Given the description of an element on the screen output the (x, y) to click on. 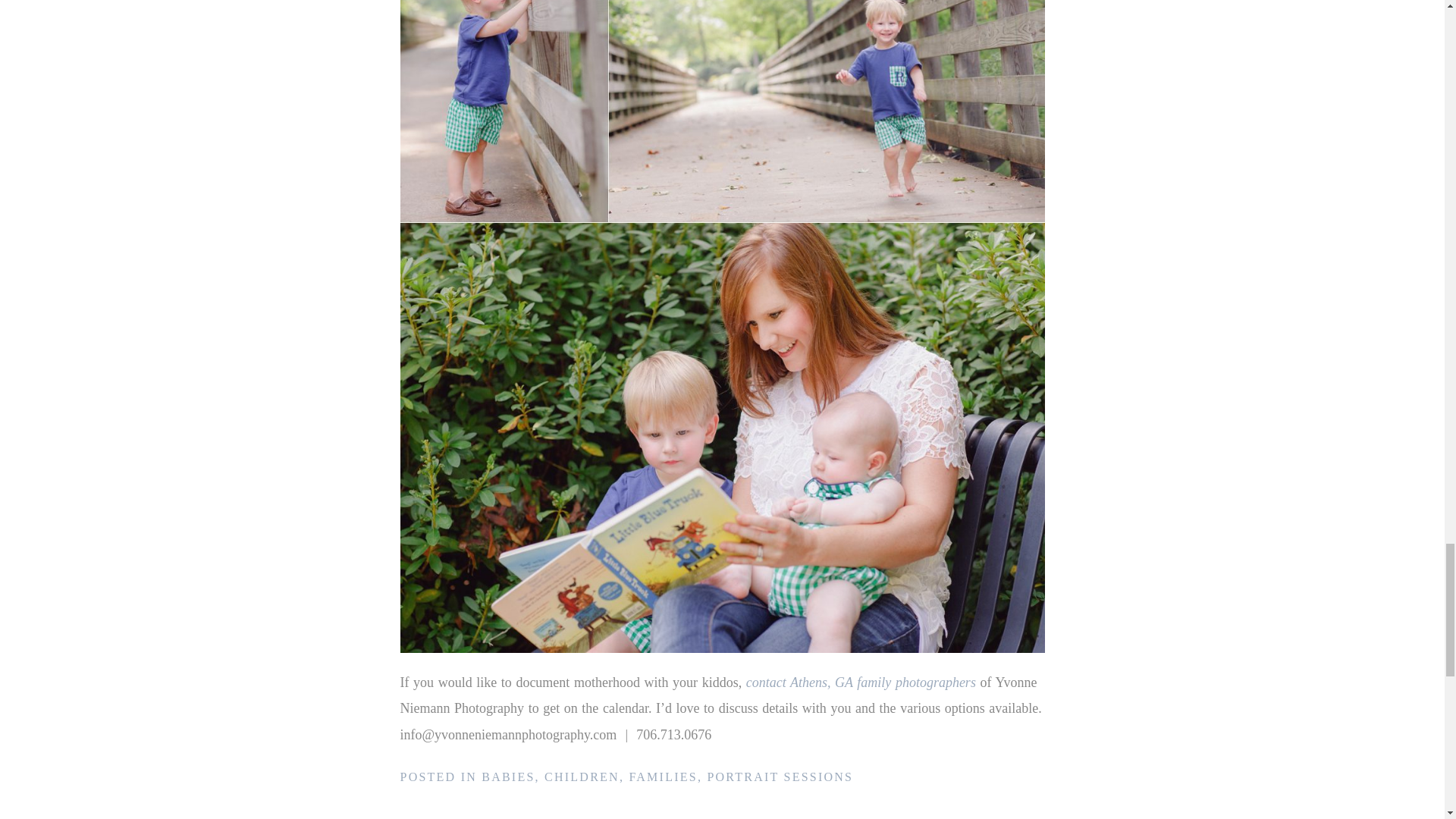
CHILDREN (582, 776)
contact Athens, GA family photographers (860, 682)
PORTRAIT SESSIONS (779, 776)
FAMILIES (662, 776)
BABIES (507, 776)
